Given the description of an element on the screen output the (x, y) to click on. 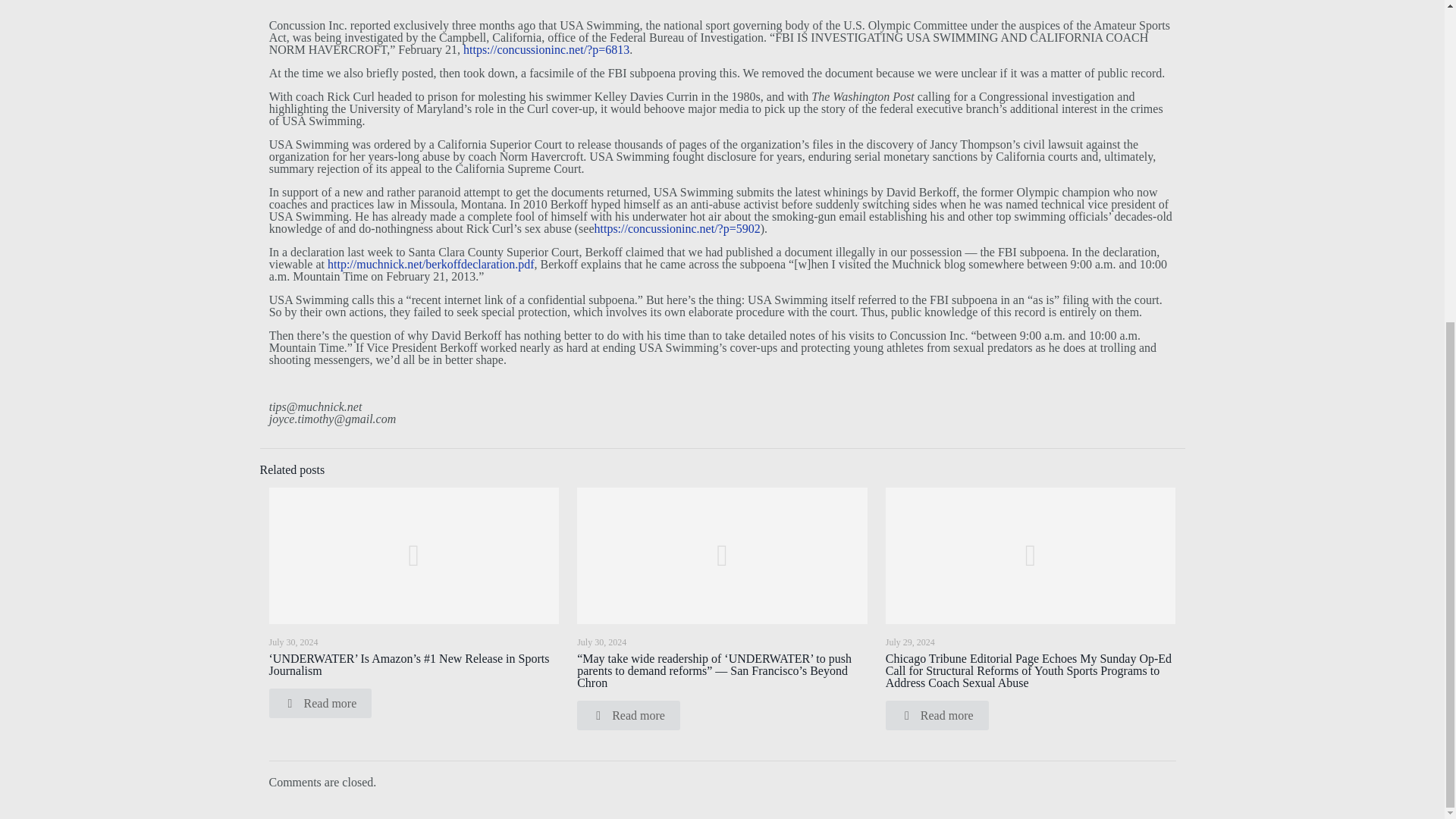
Tweets by irvmuch (931, 68)
Seattle Webd (936, 241)
Read more (936, 715)
Read more (627, 715)
Read more (319, 703)
